Given the description of an element on the screen output the (x, y) to click on. 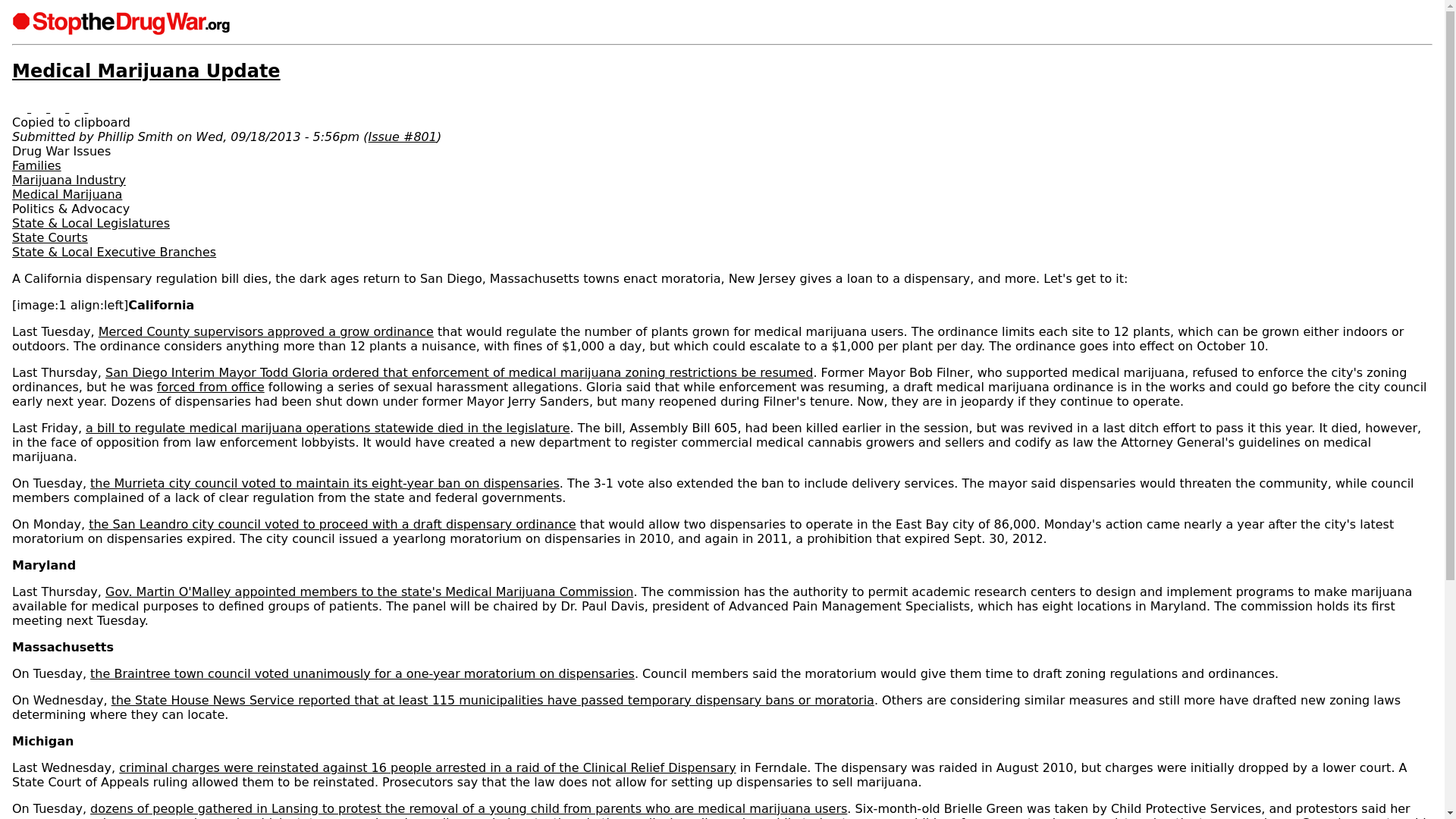
Wednesday, September 18, 2013 - 5:56pm (277, 136)
Families (36, 165)
Merced County supervisors approved a grow ordinance (266, 331)
forced from office (210, 386)
Medical Marijuana (66, 194)
